Given the description of an element on the screen output the (x, y) to click on. 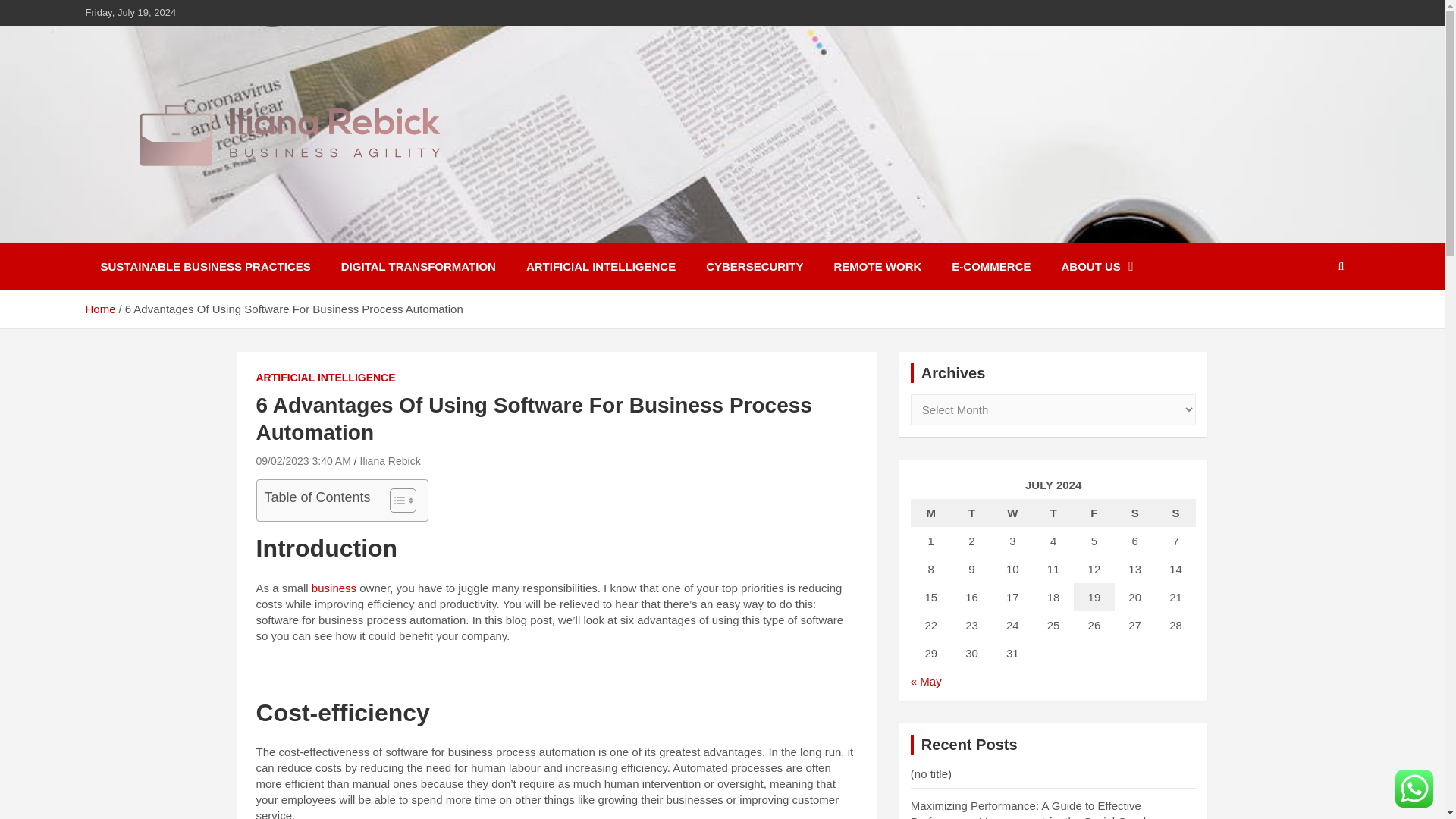
ABOUT US (1097, 266)
E-COMMERCE (990, 266)
Thursday (1053, 512)
CYBERSECURITY (754, 266)
SUSTAINABLE BUSINESS PRACTICES (204, 266)
business (333, 587)
ARTIFICIAL INTELLIGENCE (326, 378)
Iliana Rebick (177, 232)
Monday (931, 512)
Home (99, 308)
REMOTE WORK (877, 266)
DIGITAL TRANSFORMATION (418, 266)
Friday (1094, 512)
